Given the description of an element on the screen output the (x, y) to click on. 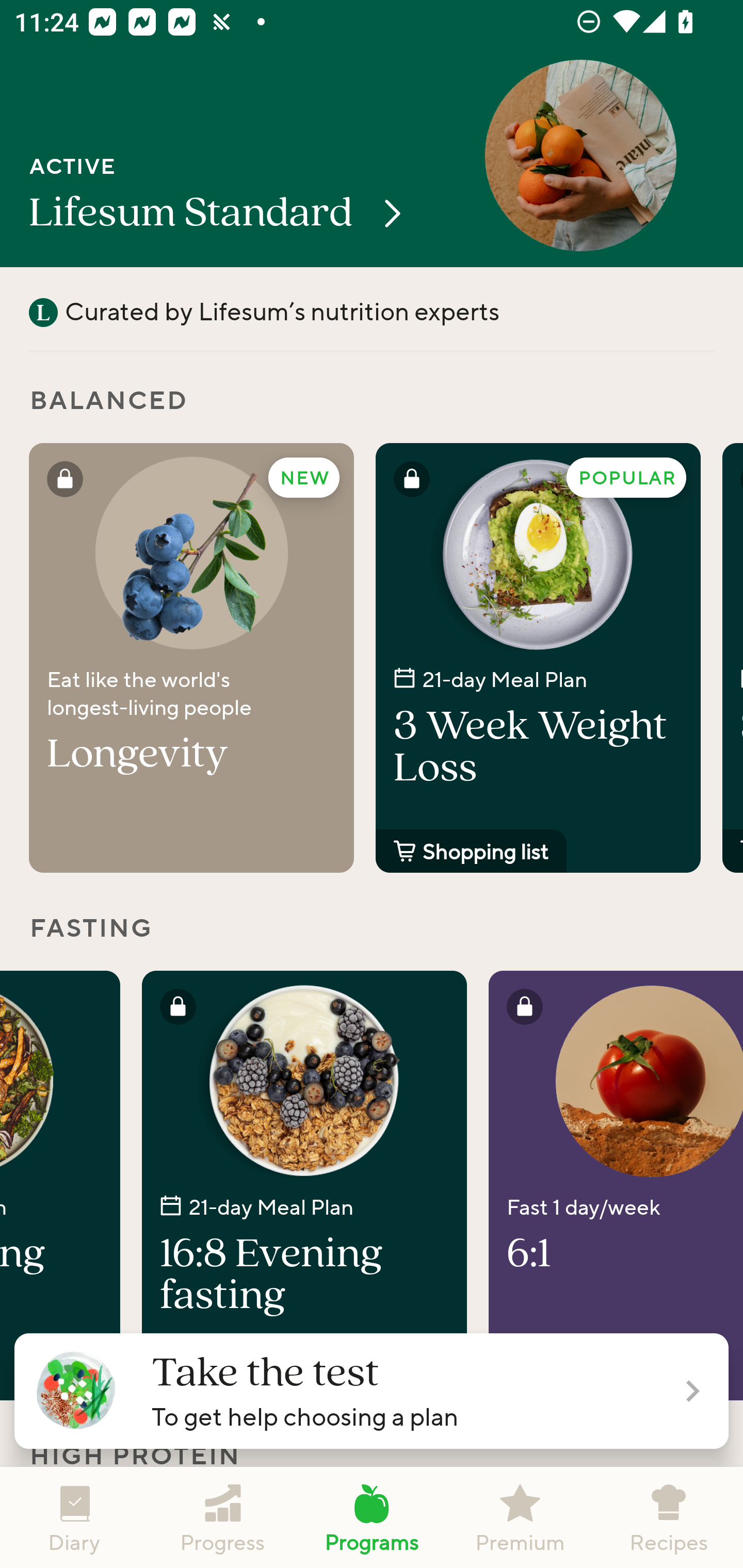
Fast 1 day/week 6:1 (615, 1185)
Take the test To get help choosing a plan (371, 1390)
Diary (74, 1517)
Progress (222, 1517)
Premium (519, 1517)
Recipes (668, 1517)
